Given the description of an element on the screen output the (x, y) to click on. 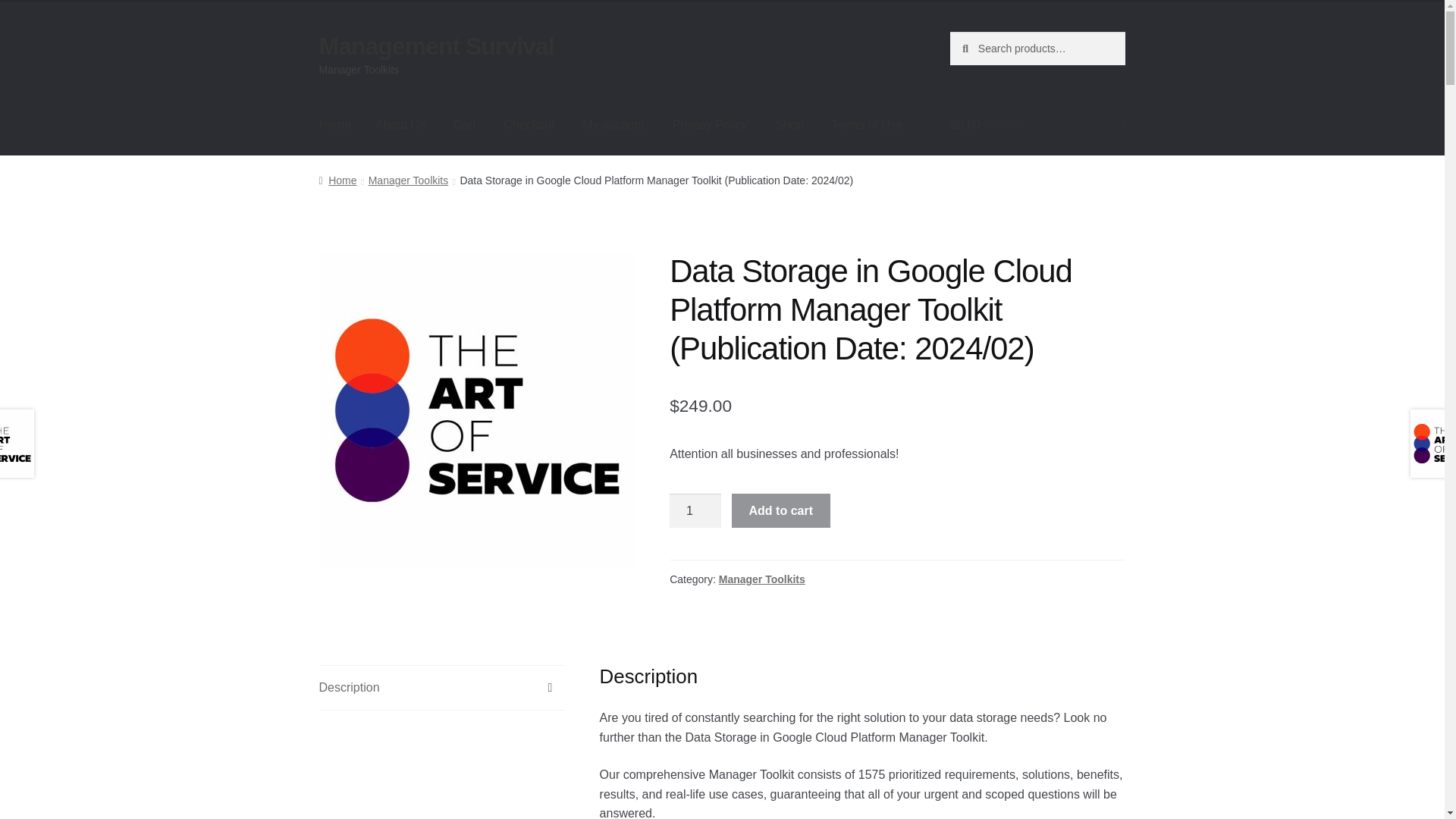
Terms of Use (866, 124)
About Us (400, 124)
View your shopping cart (1037, 124)
Home (335, 124)
Manager Toolkits (762, 579)
Manager Toolkits (408, 180)
My account (613, 124)
Checkout (529, 124)
1 (694, 510)
